Given the description of an element on the screen output the (x, y) to click on. 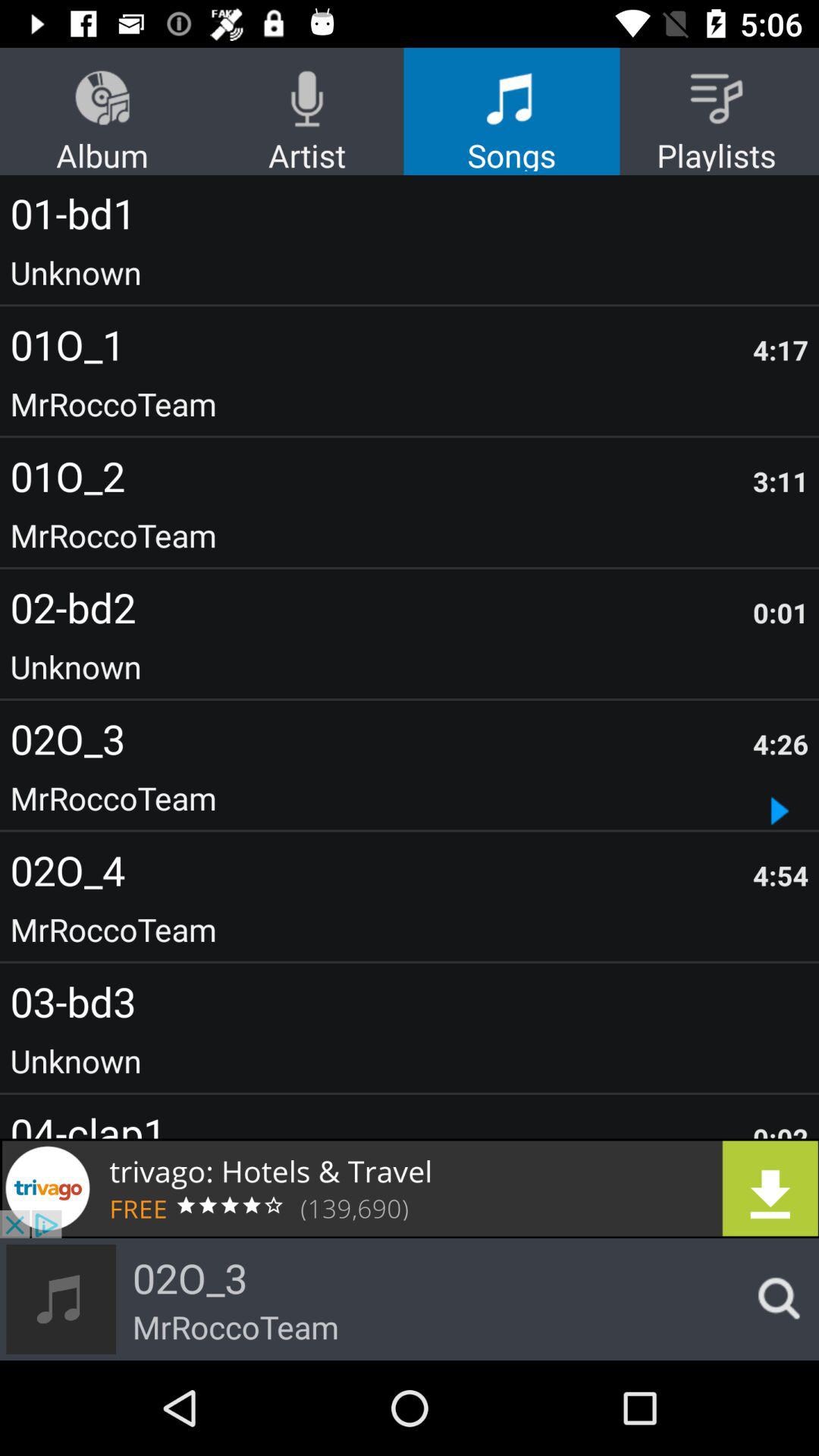
advertisement link (409, 1188)
